Given the description of an element on the screen output the (x, y) to click on. 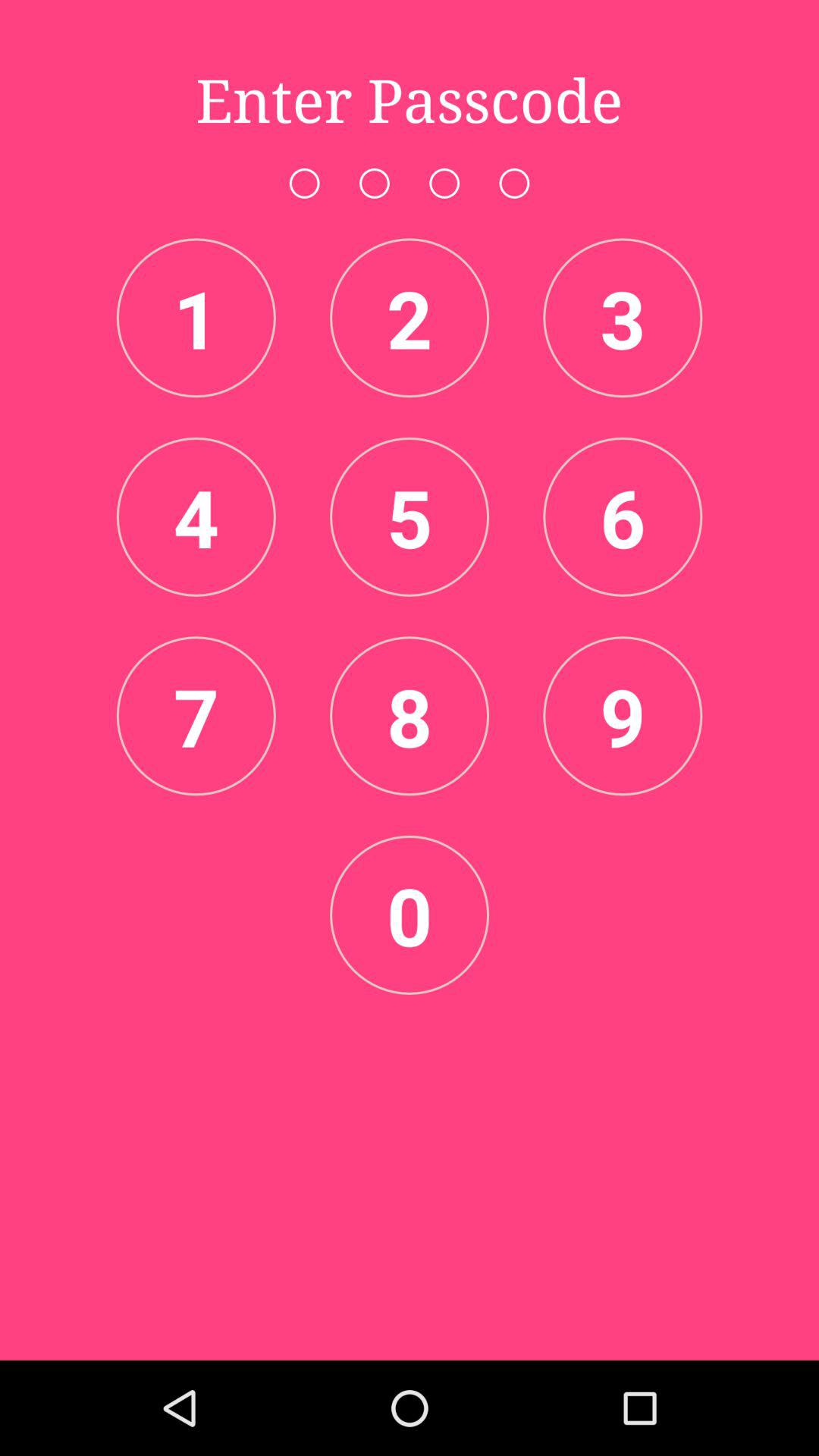
launch the item to the right of the 7 item (409, 715)
